Given the description of an element on the screen output the (x, y) to click on. 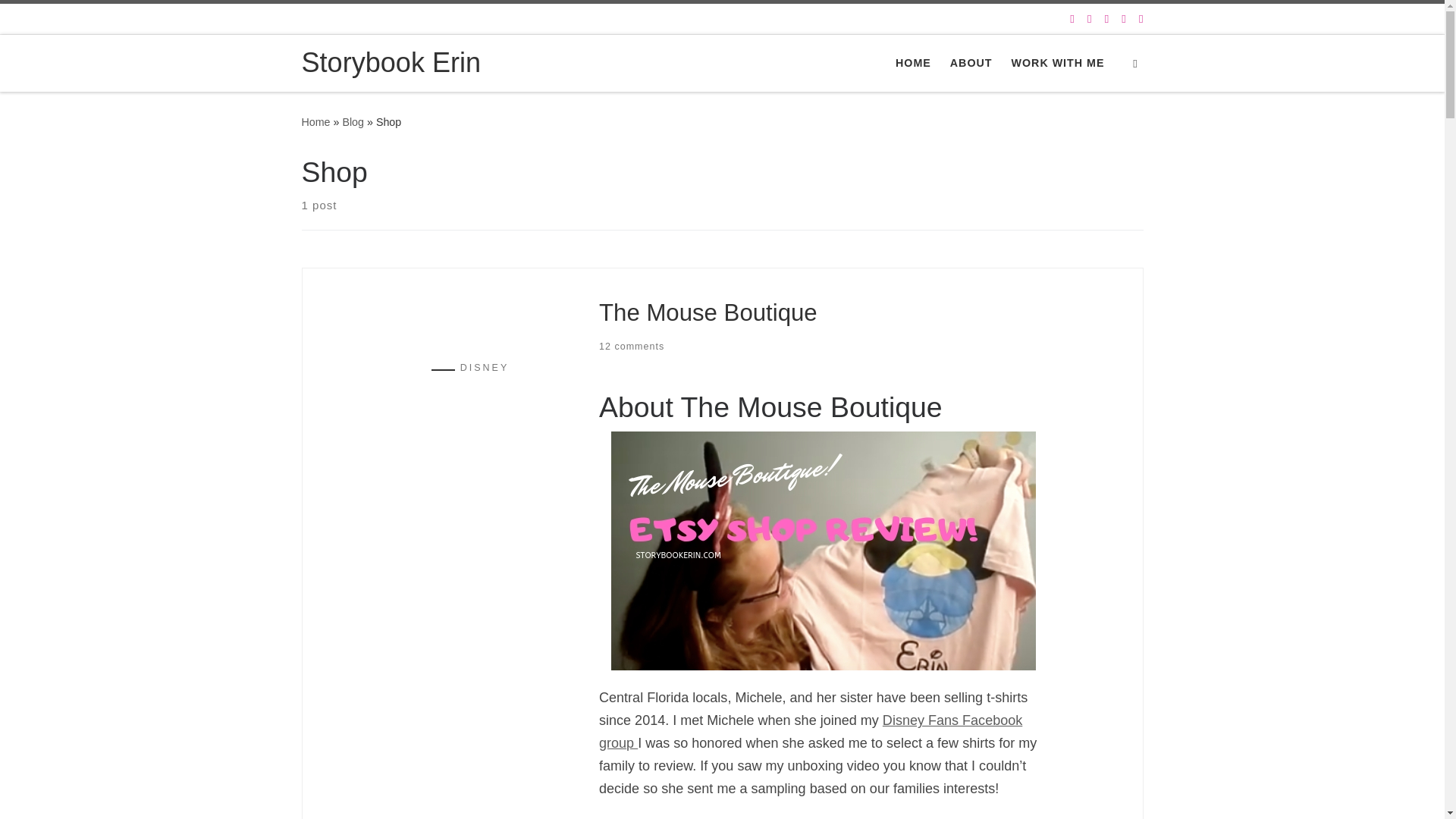
Home (315, 121)
HOME (913, 63)
Permalink to The Mouse Boutique (707, 312)
WORK WITH ME (1057, 63)
Storybook Erin (315, 121)
View all posts in Disney (419, 368)
The Mouse Boutique (707, 312)
Disney Fans Facebook group (810, 731)
DISNEY (419, 368)
Storybook Erin (391, 62)
